Given the description of an element on the screen output the (x, y) to click on. 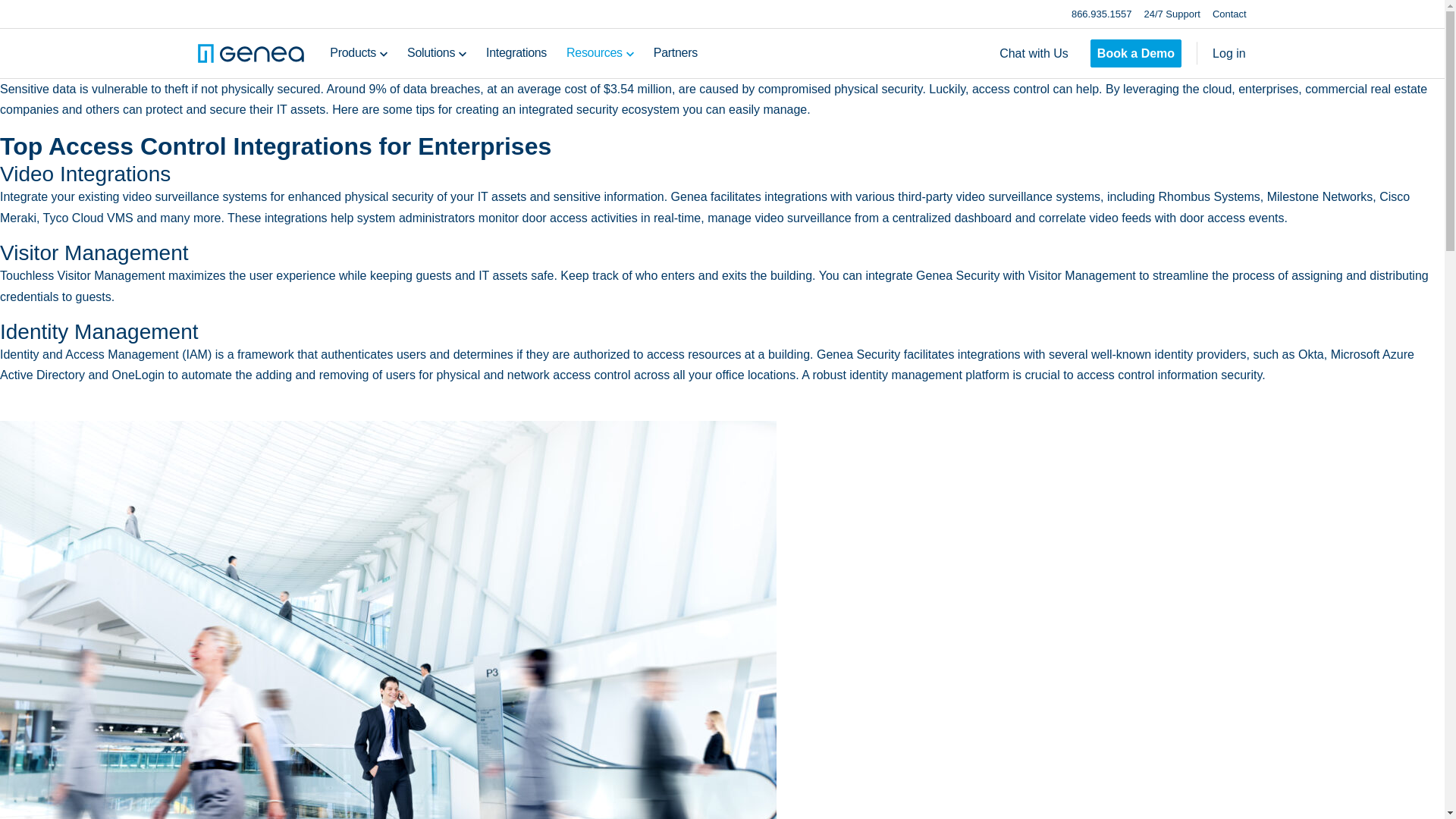
866.935.1557 (1101, 14)
Products (352, 53)
Contact (1229, 14)
